Given the description of an element on the screen output the (x, y) to click on. 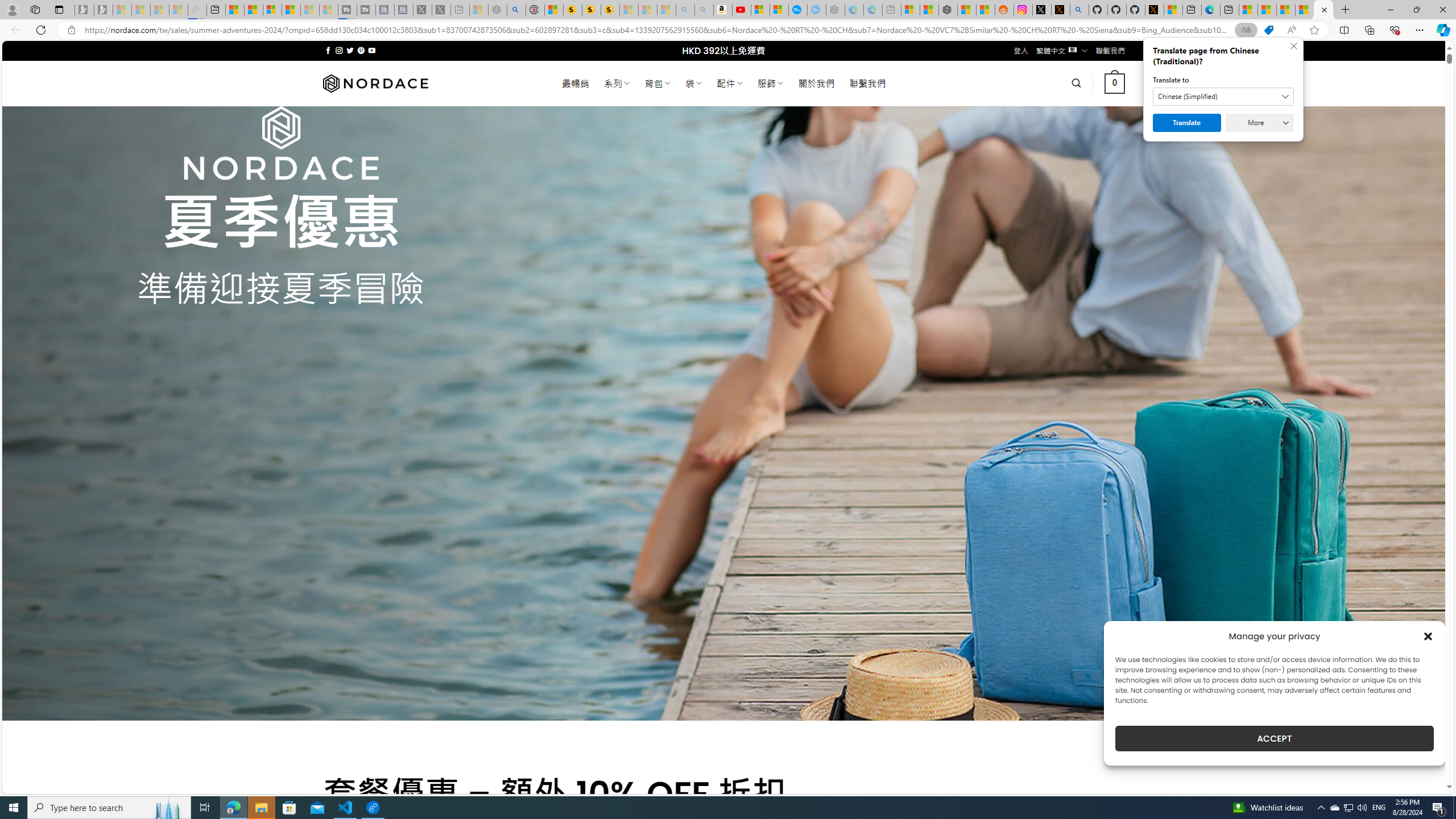
Workspaces (34, 9)
Split screen (1344, 29)
Close tab (1324, 9)
Restore (1416, 9)
Amazon Echo Dot PNG - Search Images - Sleeping (703, 9)
Nordace - Summer Adventures 2024 (1323, 9)
Follow on Facebook (327, 50)
Nordace (374, 83)
Translate to (1223, 96)
